Given the description of an element on the screen output the (x, y) to click on. 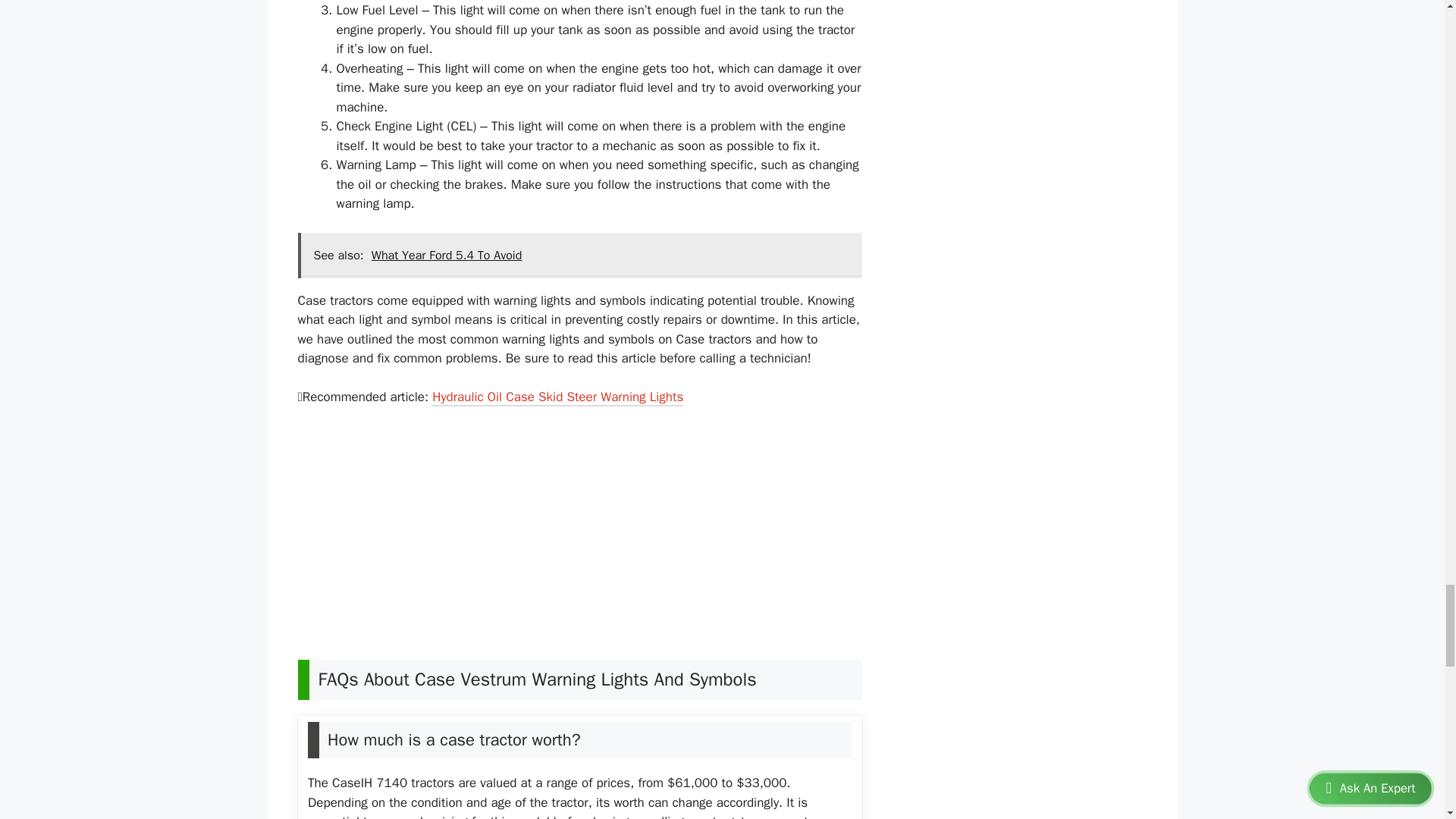
Hydraulic Oil Case Skid Steer Warning Lights (557, 398)
See also:  What Year Ford 5.4 To Avoid (579, 255)
